Given the description of an element on the screen output the (x, y) to click on. 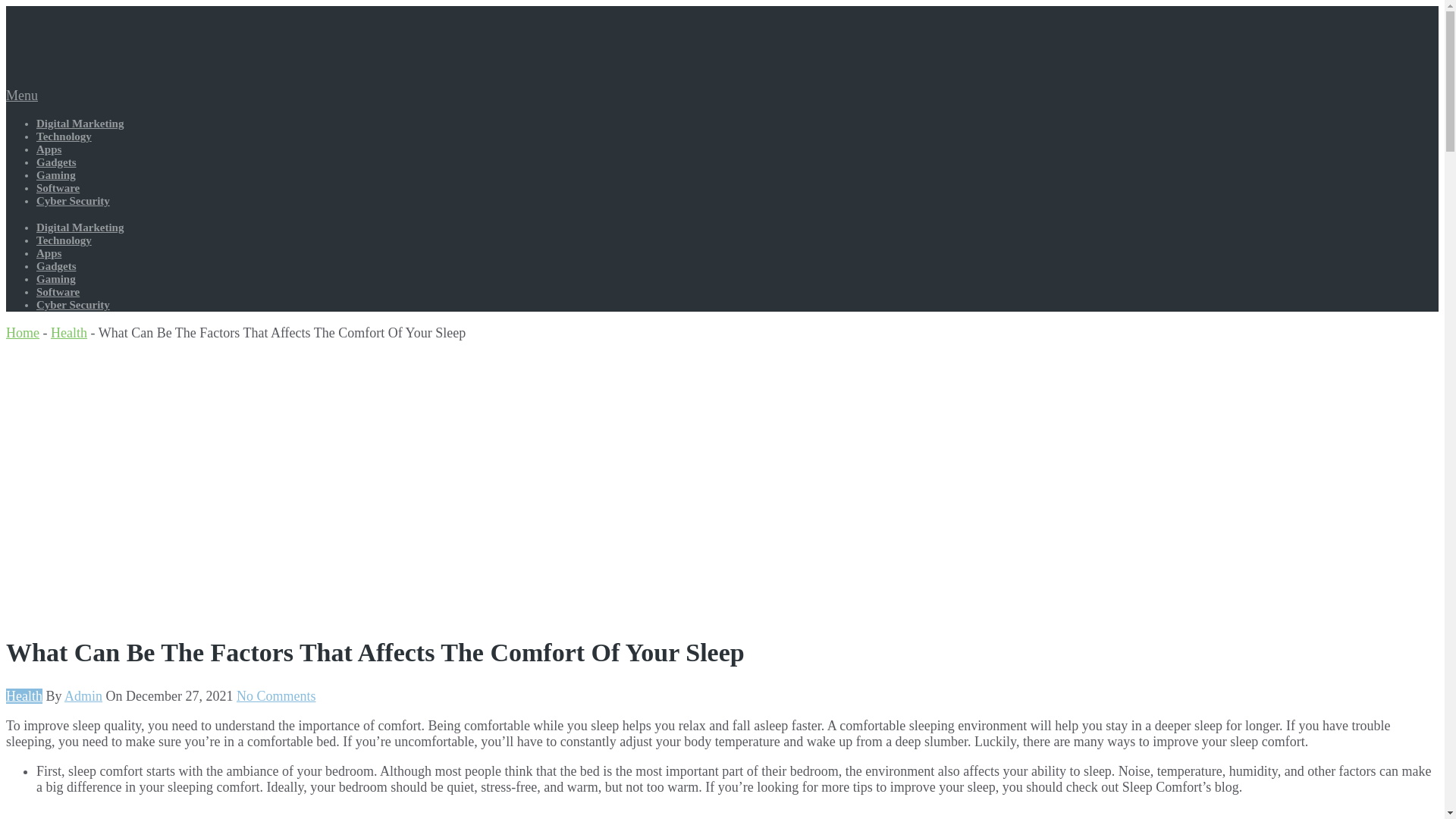
No Comments (275, 695)
View all posts in Health (23, 695)
Admin (82, 695)
Technology (63, 240)
Health (23, 695)
Digital Marketing (79, 123)
Gaming (55, 278)
Software (58, 291)
Technology (63, 136)
Home (22, 332)
Posts by Admin (82, 695)
Digital Marketing (79, 227)
Cyber Security (73, 304)
Apps (48, 149)
